Given the description of an element on the screen output the (x, y) to click on. 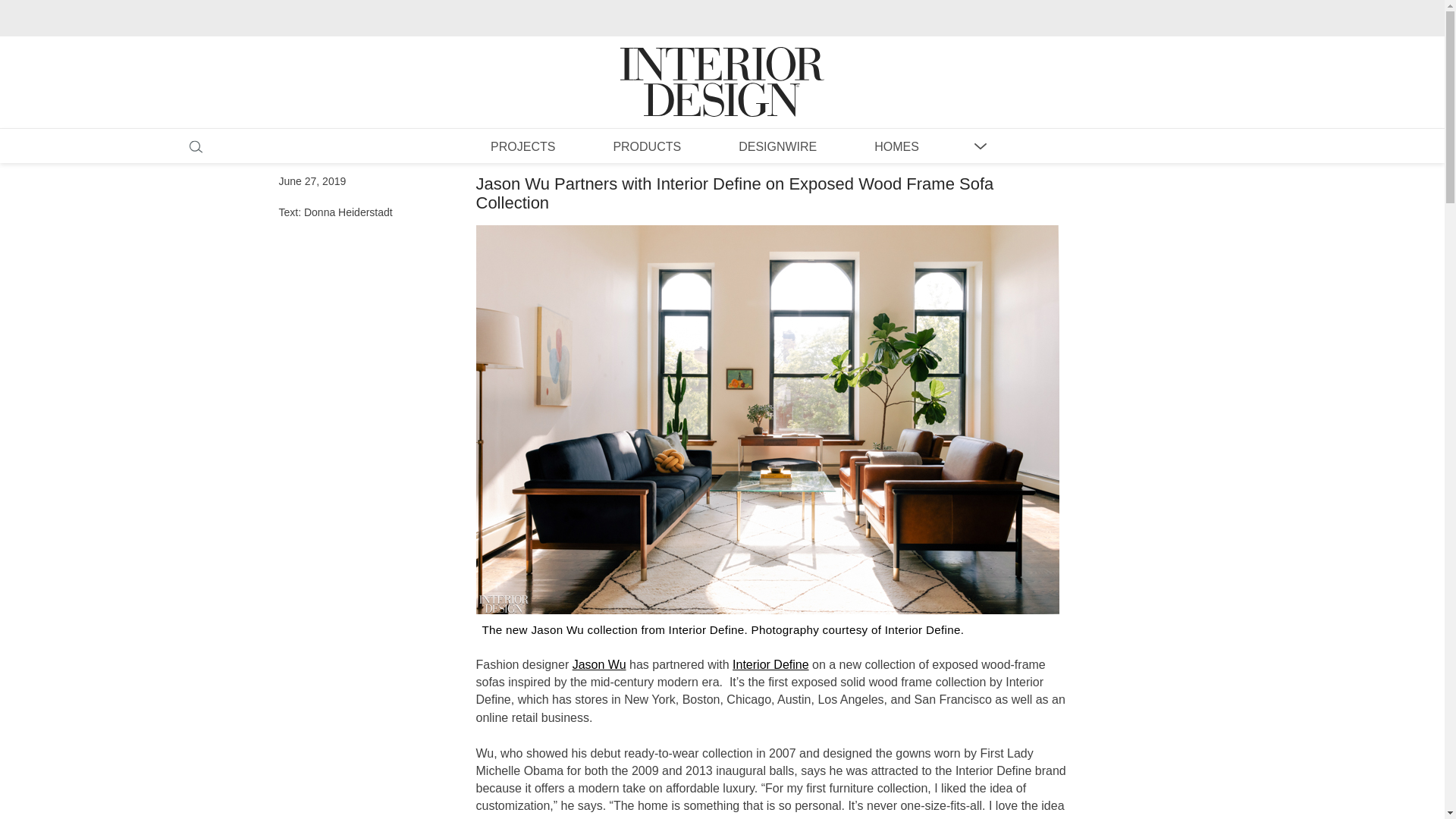
HOMES (896, 145)
Interior Define (770, 664)
DESIGNWIRE (777, 145)
Interior Design (721, 67)
PRODUCTS (646, 145)
PROJECTS (522, 145)
Jason Wu (599, 664)
